Given the description of an element on the screen output the (x, y) to click on. 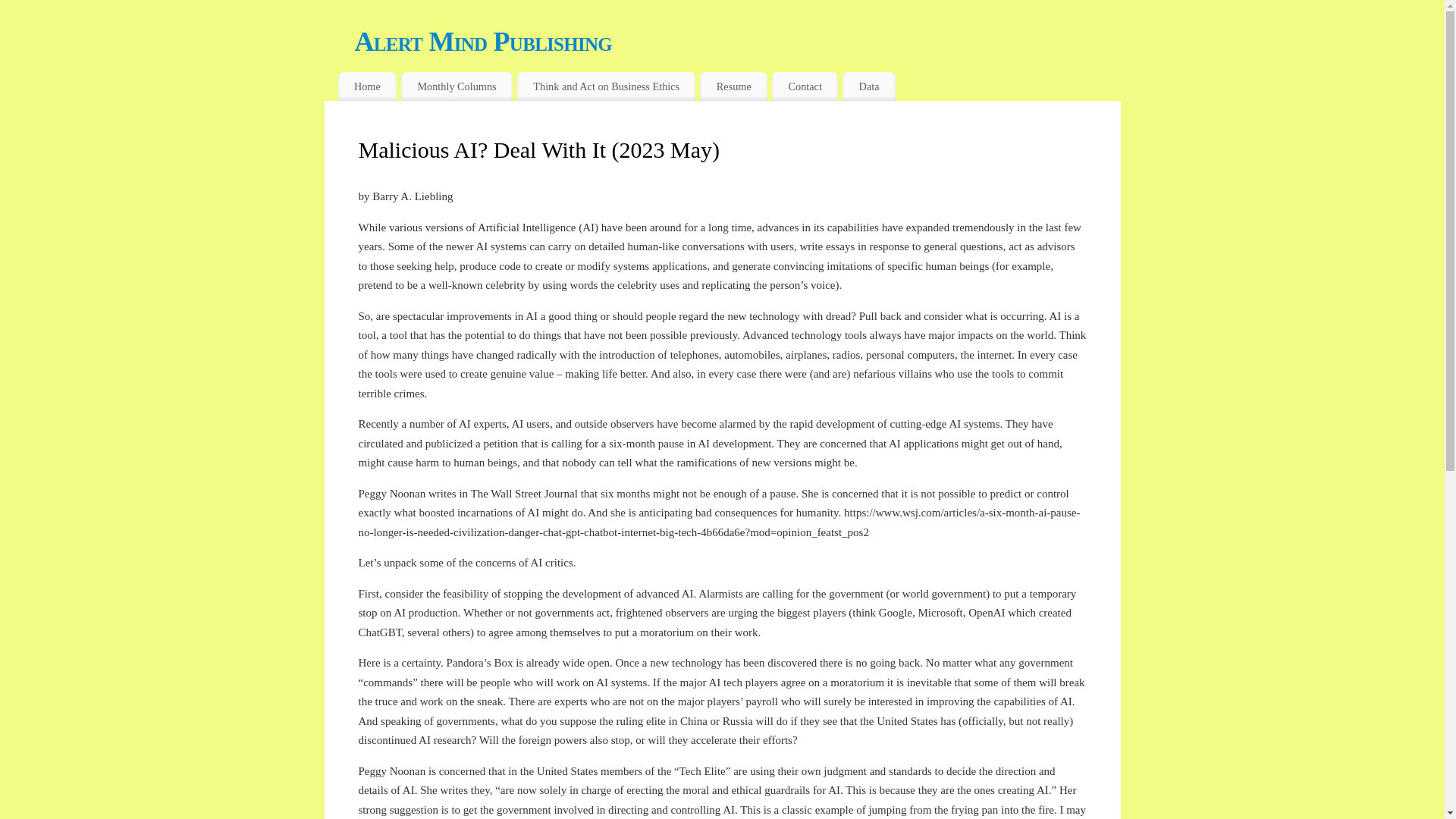
Contact (804, 86)
Data (869, 86)
Monthly Columns (456, 86)
Alert Mind Publishing (738, 41)
Think and Act on Business Ethics (605, 86)
Alert Mind Publishing (738, 41)
Resume (733, 86)
Home (367, 86)
